Given the description of an element on the screen output the (x, y) to click on. 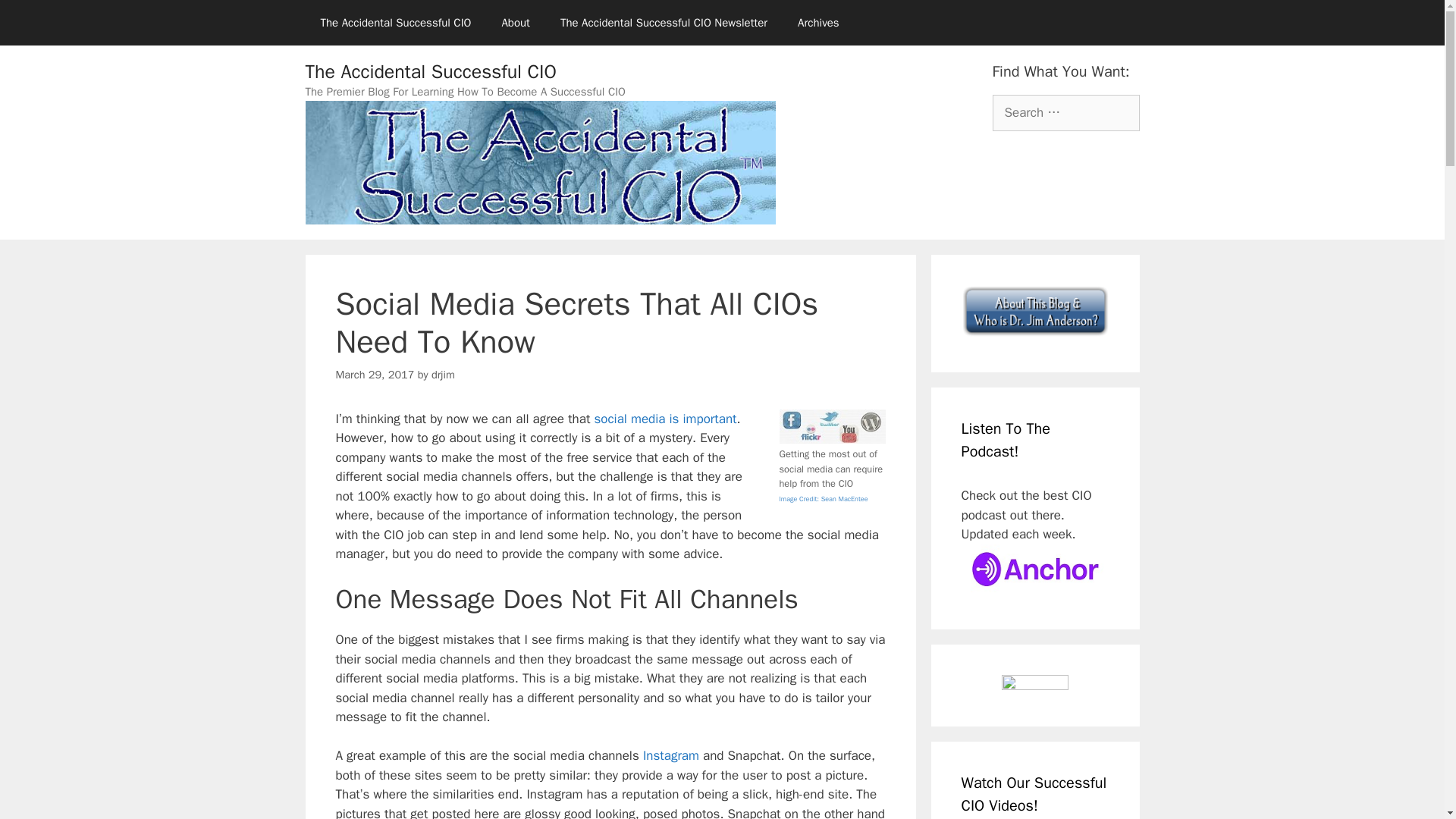
The Accidental Successful CIO Newsletter (663, 22)
View all posts by drjim (442, 374)
Image Credit: Sean MacEntee (822, 498)
About (515, 22)
social media is important (665, 418)
Search (35, 18)
Archives (818, 22)
Search for: (1064, 113)
The Accidental Successful CIO (430, 71)
